Given the description of an element on the screen output the (x, y) to click on. 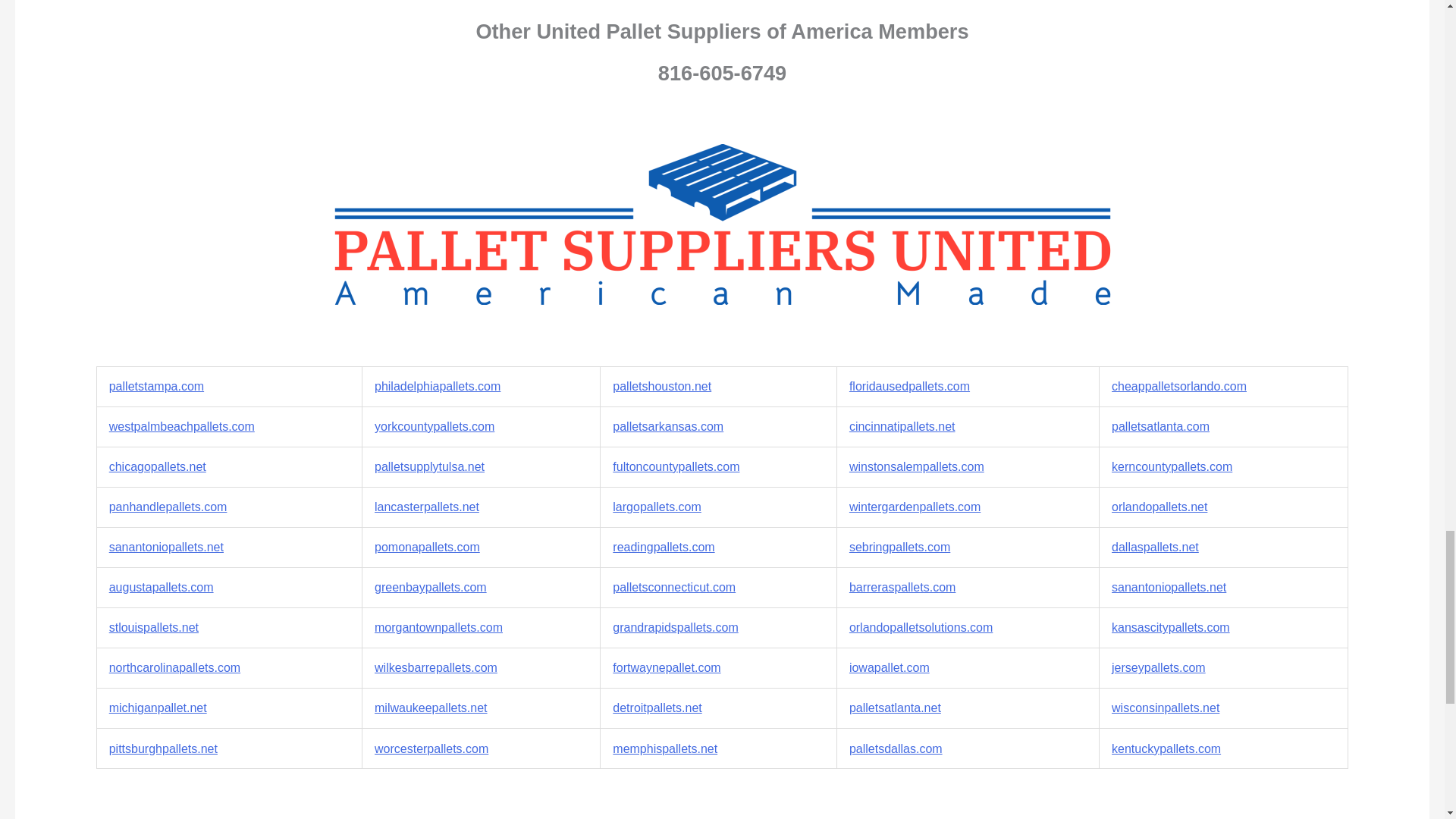
palletshouston.net (661, 386)
westpalmbeachpallets.com (181, 426)
palletsarkansas.com (667, 426)
cincinnatipallets.net (901, 426)
largopallets.com (656, 506)
yorkcountypallets.com (434, 426)
palletsupplytulsa.net (429, 466)
palletsatlanta.com (1160, 426)
palletstampa.com (156, 386)
cheappalletsorlando.com (1179, 386)
